Given the description of an element on the screen output the (x, y) to click on. 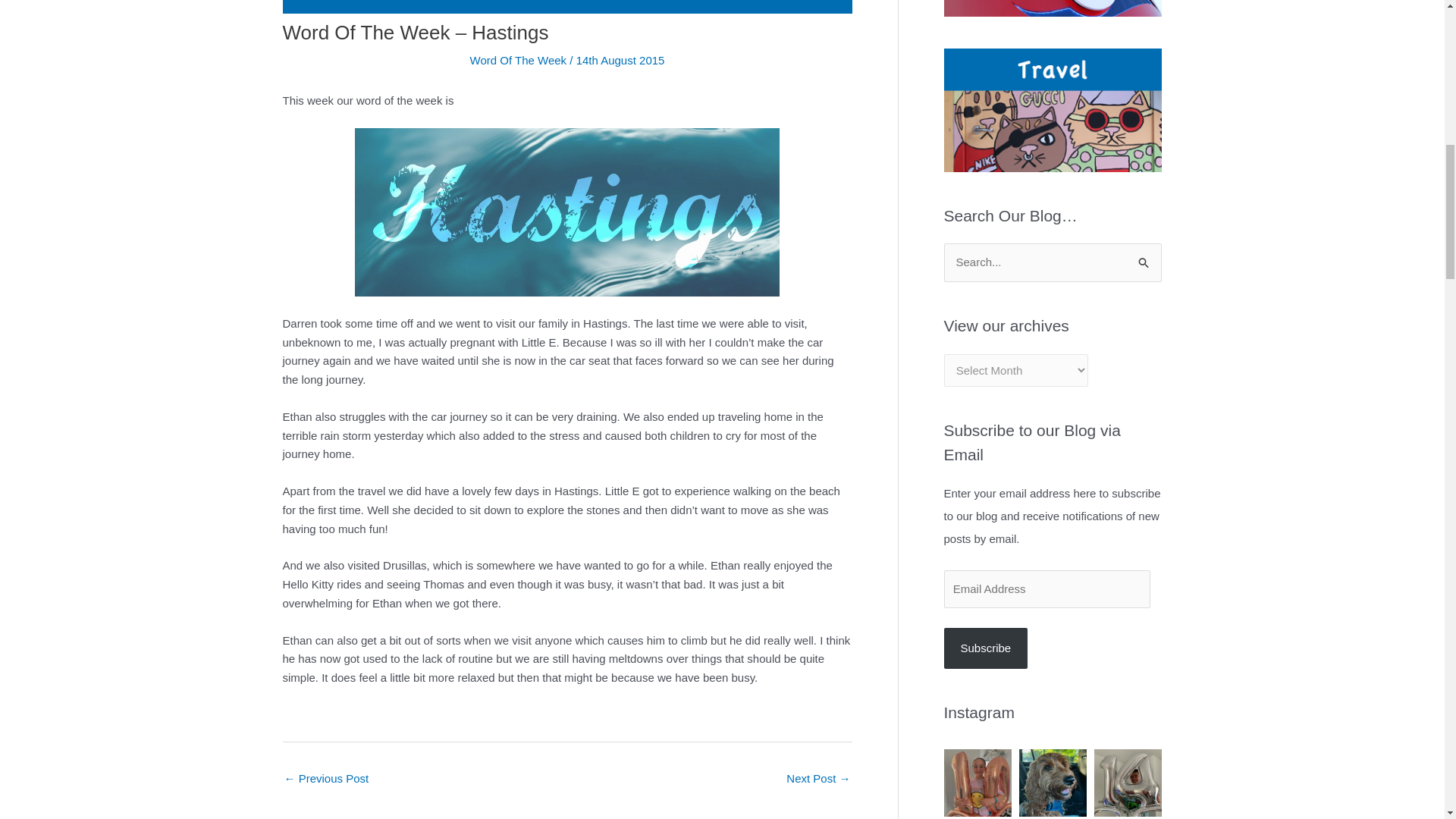
Our Siblings During August 2015 (818, 779)
Search (1143, 258)
Search (1143, 258)
